Given the description of an element on the screen output the (x, y) to click on. 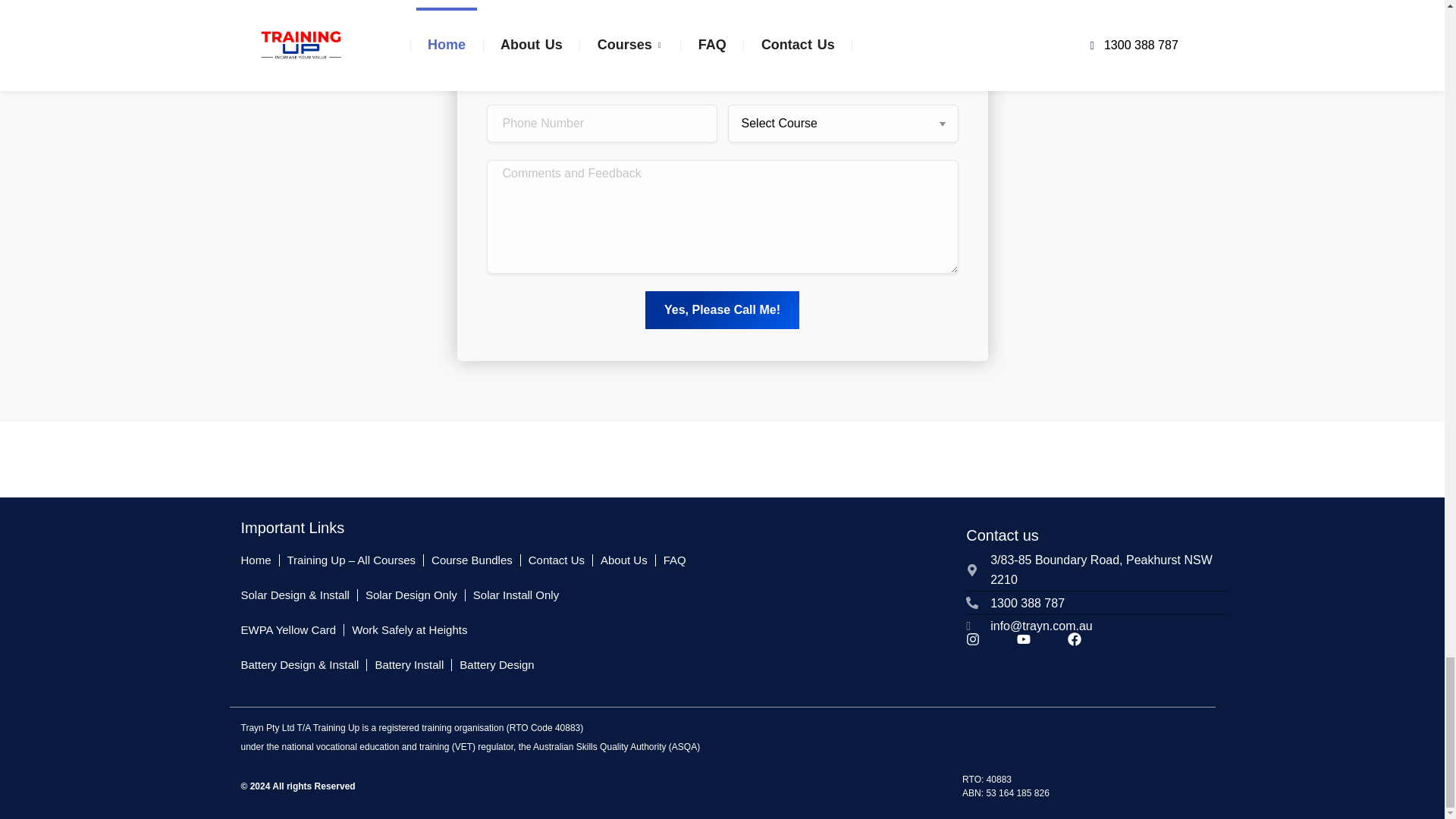
Yes, Please Call Me! (722, 310)
